Given the description of an element on the screen output the (x, y) to click on. 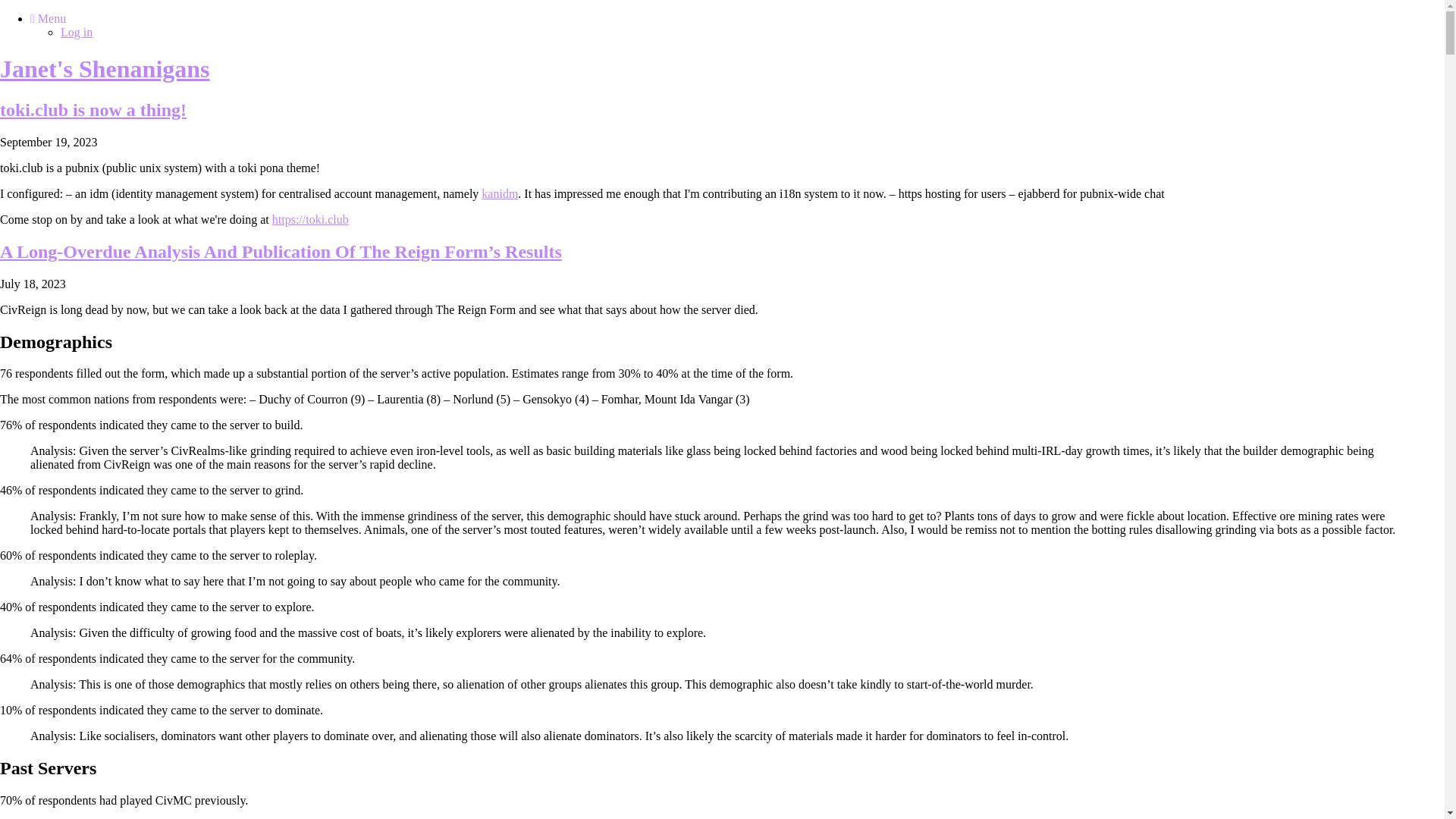
toki.club is now a thing! Element type: text (93, 109)
Log in Element type: text (76, 31)
https://toki.club Element type: text (310, 219)
kanidm Element type: text (499, 193)
Janet's Shenanigans Element type: text (105, 68)
